Given the description of an element on the screen output the (x, y) to click on. 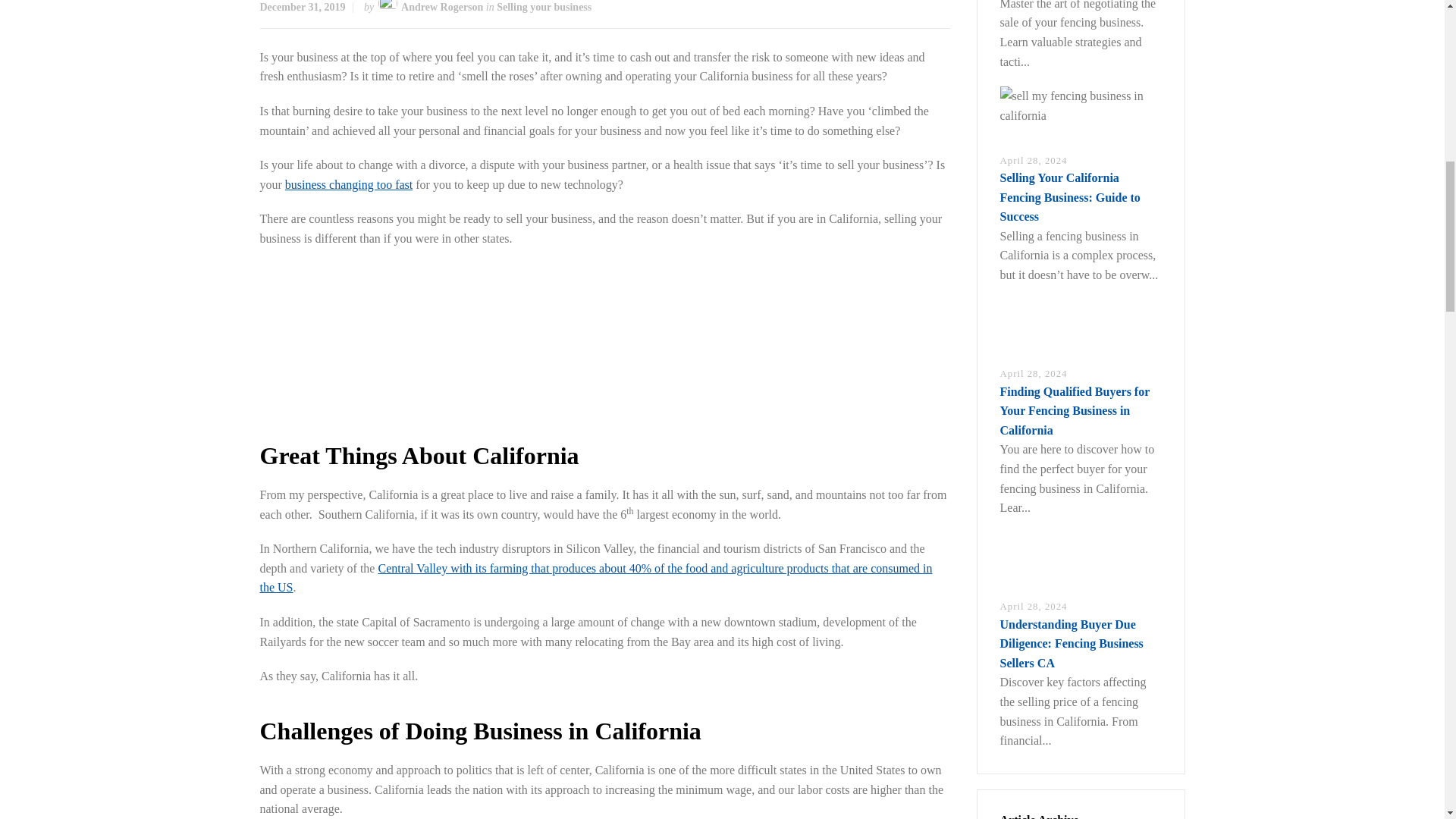
Posts by Andrew Rogerson (442, 7)
Selling Your California Fencing Business: Guide to Success (1069, 196)
